Given the description of an element on the screen output the (x, y) to click on. 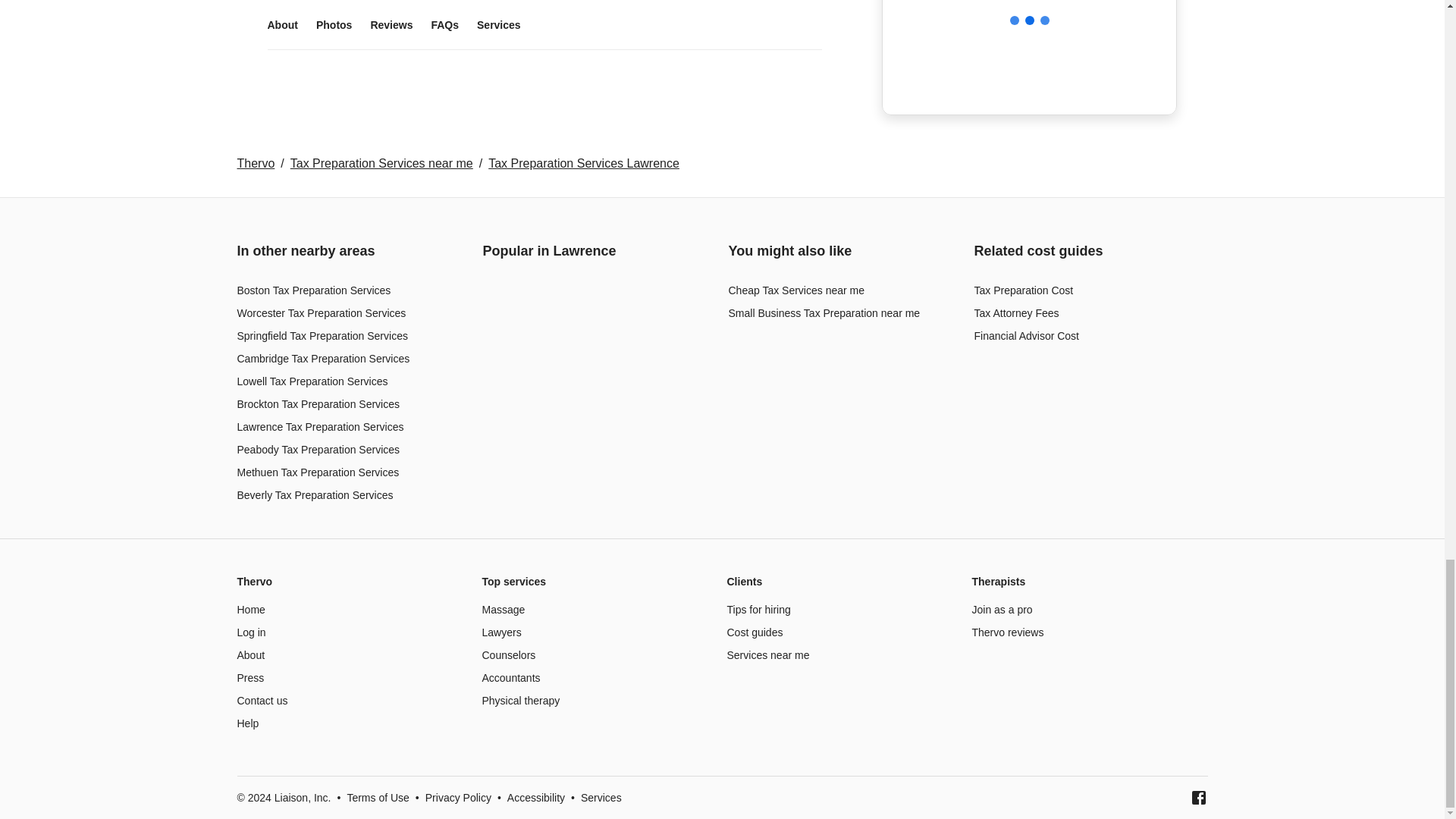
Springfield Tax Preparation Services (321, 336)
Thervo (255, 163)
Cambridge Tax Preparation Services (322, 358)
Worcester Tax Preparation Services (320, 313)
Peabody Tax Preparation Services (316, 449)
Brockton Tax Preparation Services (316, 404)
Facebook (1198, 797)
Boston Tax Preparation Services (312, 290)
Tax Preparation Services Lawrence (583, 163)
Lawrence Tax Preparation Services (319, 426)
